Given the description of an element on the screen output the (x, y) to click on. 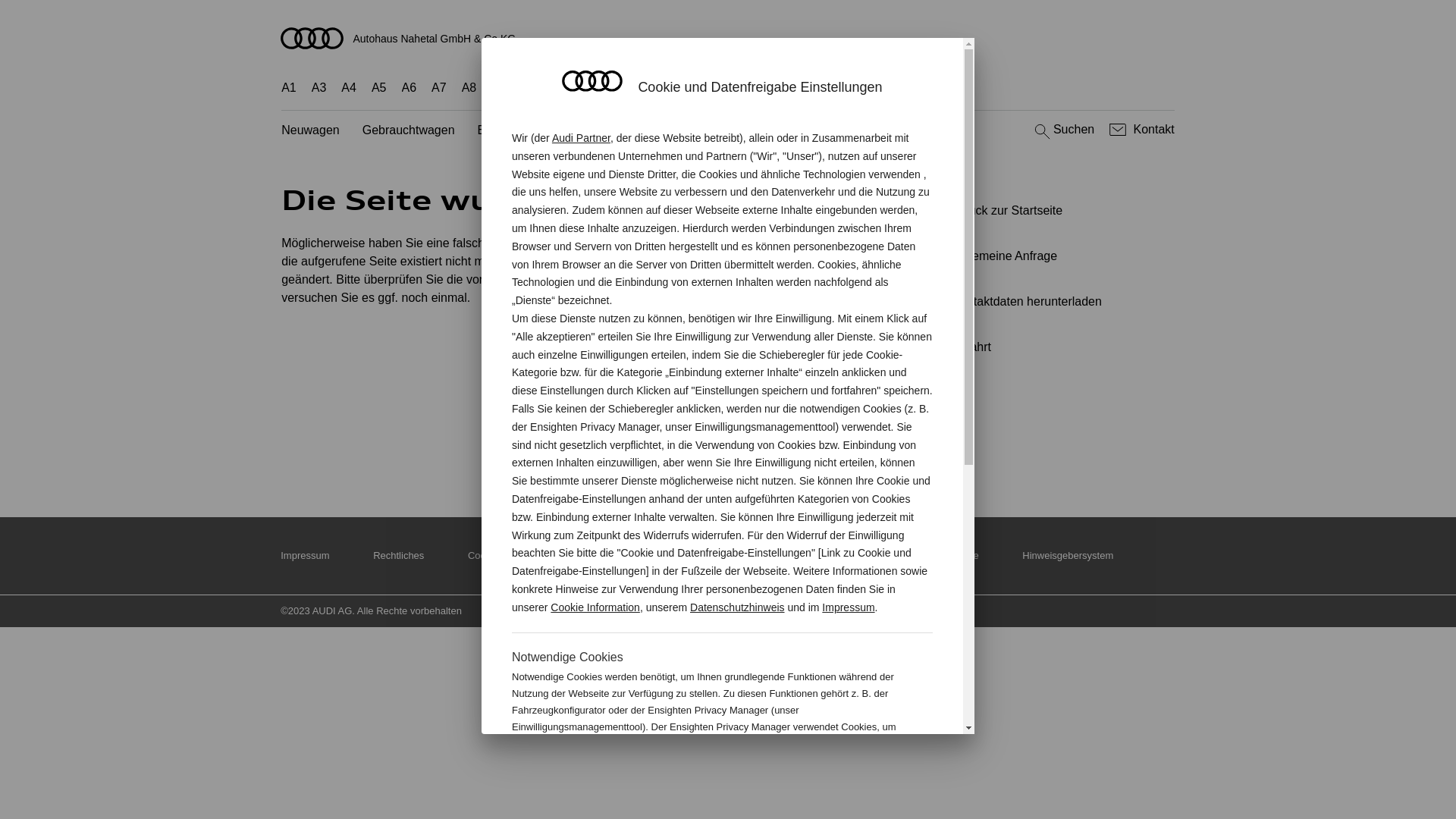
Kundenservice Element type: text (697, 130)
Instagram Element type: hover (864, 444)
TT Element type: text (788, 87)
YouTube Element type: hover (796, 444)
Kontakt Element type: text (1139, 129)
A1 Element type: text (288, 87)
Q4 e-tron Element type: text (579, 87)
Rechtliches Element type: text (398, 555)
Q3 Element type: text (531, 87)
Audi.de Element type: text (808, 555)
Q2 Element type: text (499, 87)
A3 Element type: text (318, 87)
Angebote Element type: text (609, 130)
g-tron Element type: text (874, 87)
A4 Element type: text (348, 87)
Gebrauchtwagen Element type: text (408, 130)
Cookie Information Element type: text (853, 776)
Facebook Element type: hover (730, 444)
Cookie und Datenfreigabe Einstellungen Element type: text (659, 555)
Allgemeine Anfrage Element type: text (1043, 256)
Hinweisgebersystem Element type: text (1067, 555)
Anfahrt Element type: text (1049, 347)
Q5 Element type: text (629, 87)
Q8 Element type: text (691, 87)
Neuwagen Element type: text (310, 130)
RS Element type: text (834, 87)
Pinterest Element type: hover (663, 444)
Q8 e-tron Element type: text (740, 87)
A5 Element type: text (378, 87)
A7 Element type: text (438, 87)
e-tron GT Element type: text (931, 87)
Twitter Element type: hover (595, 444)
Cookie Information Element type: text (595, 607)
Suchen Element type: text (1062, 129)
A8 Element type: text (468, 87)
Impressum Element type: text (848, 607)
Q7 Element type: text (660, 87)
Kontaktdaten herunterladen Element type: text (1043, 301)
Audi Partner Element type: text (581, 137)
Konfigurieren auf audi.de Element type: text (923, 555)
Impressum Element type: text (304, 555)
Datenschutzhinweis Element type: text (737, 607)
Cookie Policy Element type: text (497, 555)
A6 Element type: text (409, 87)
Autohaus Nahetal GmbH & Co.KG Element type: text (727, 38)
